Given the description of an element on the screen output the (x, y) to click on. 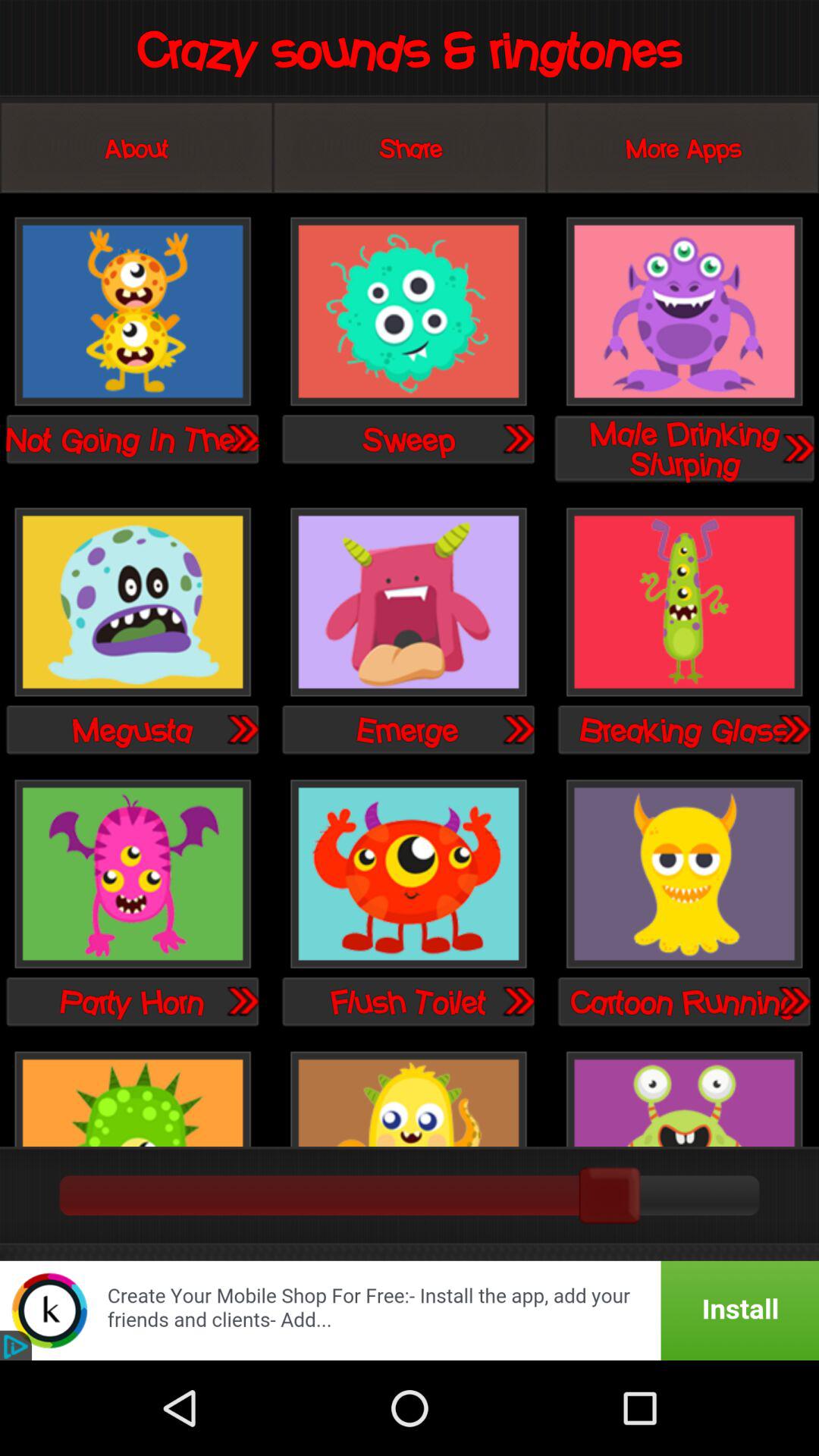
go forward (518, 1000)
